Given the description of an element on the screen output the (x, y) to click on. 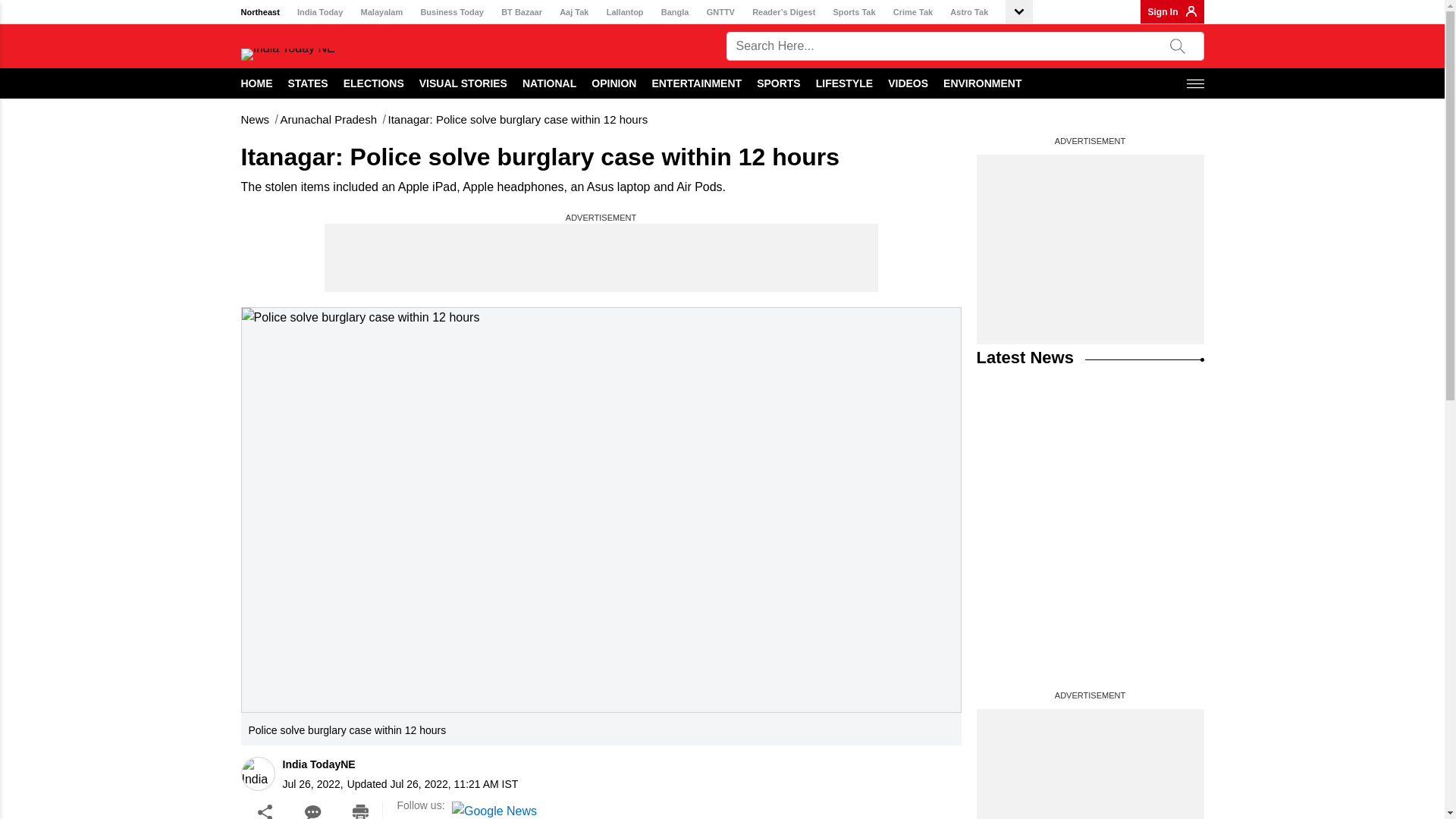
Business Today (451, 12)
BT Bazaar (520, 12)
Malayalam (382, 12)
Sports Tak (854, 12)
GNTTV (720, 12)
Sign In (1162, 11)
Northeast (260, 12)
HOME (257, 82)
Lallantop (625, 12)
BT Bazaar (520, 12)
OPINION (613, 82)
Aaj Tak (573, 12)
Business Today (451, 12)
Astro Tak (969, 12)
ELECTIONS (373, 82)
